Given the description of an element on the screen output the (x, y) to click on. 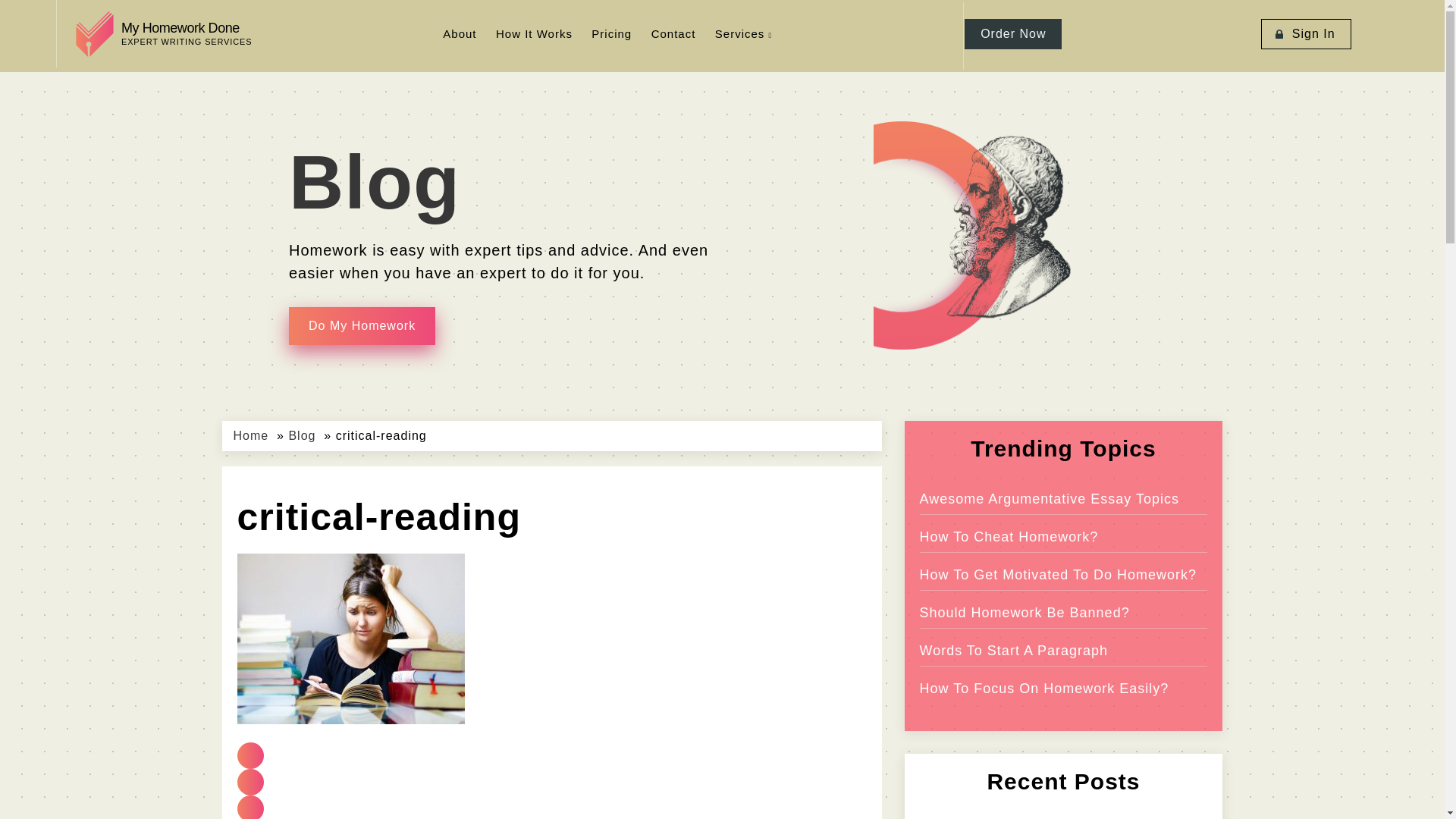
Pricing (611, 33)
Contact (163, 33)
About (672, 33)
Skip to content (459, 33)
